Given the description of an element on the screen output the (x, y) to click on. 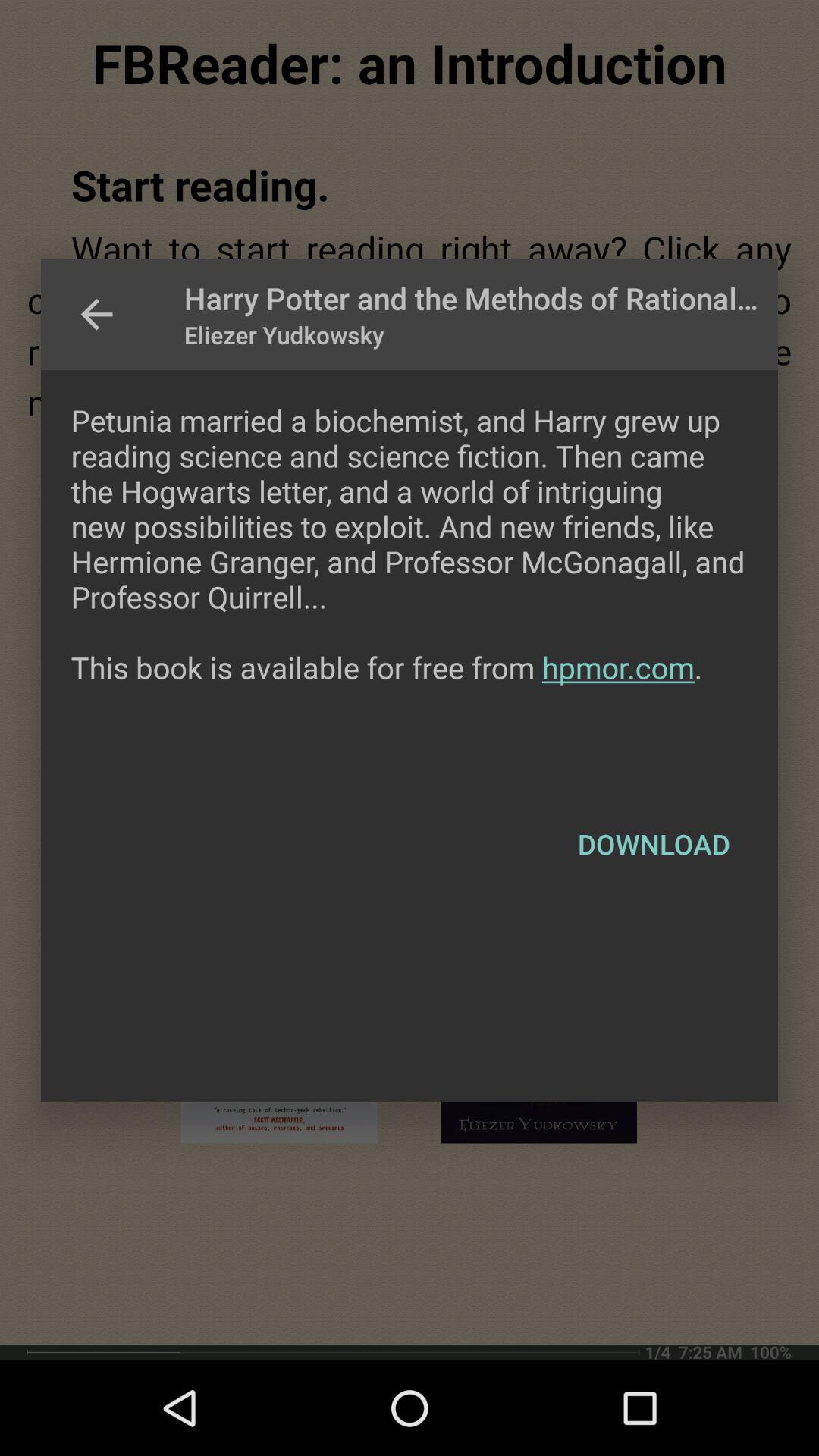
press icon at the top left corner (96, 314)
